Given the description of an element on the screen output the (x, y) to click on. 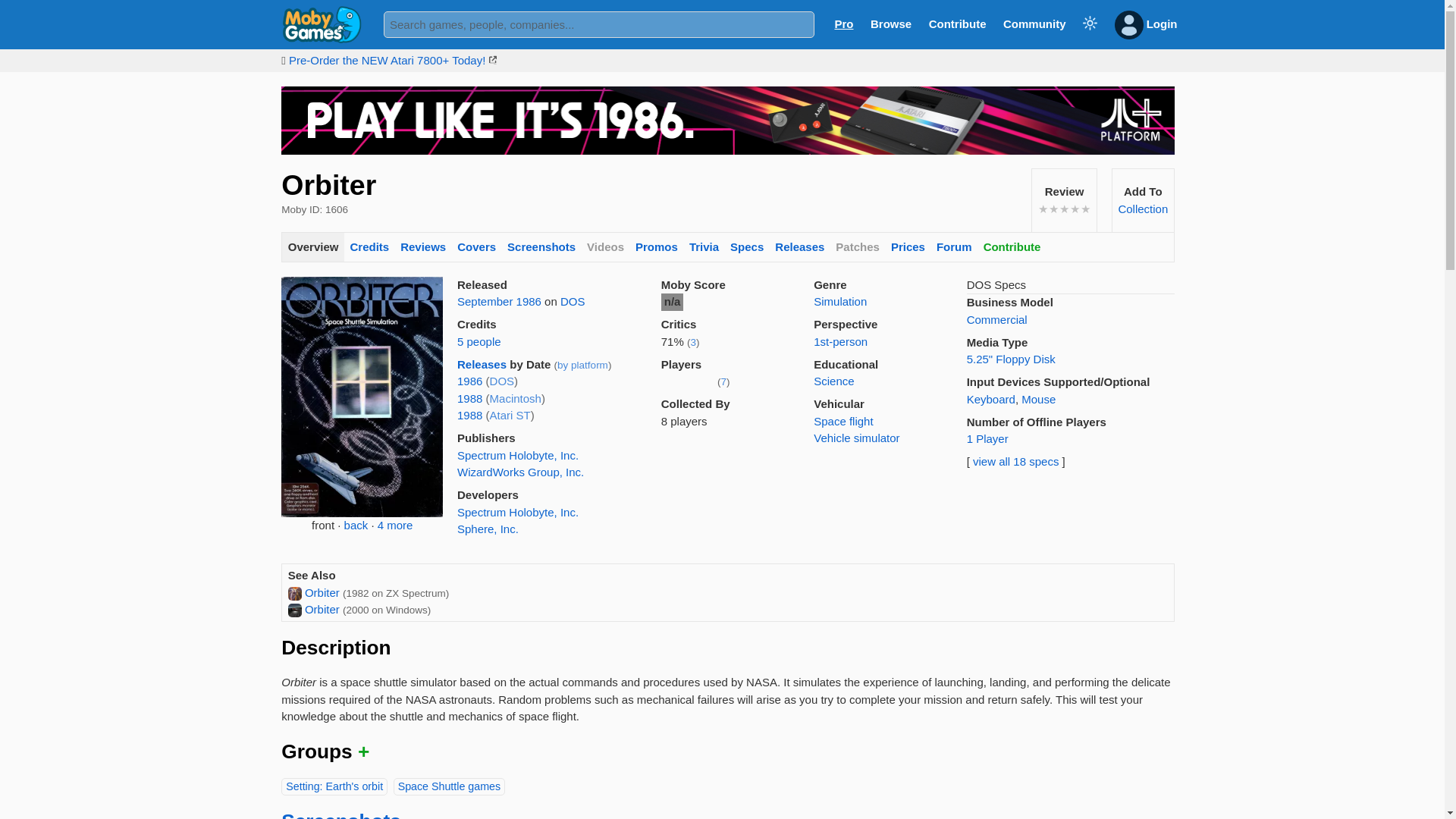
Reviews (422, 247)
Collection (1142, 208)
Pro (843, 23)
Credits (368, 247)
Overview (312, 247)
Covers (476, 247)
